Given the description of an element on the screen output the (x, y) to click on. 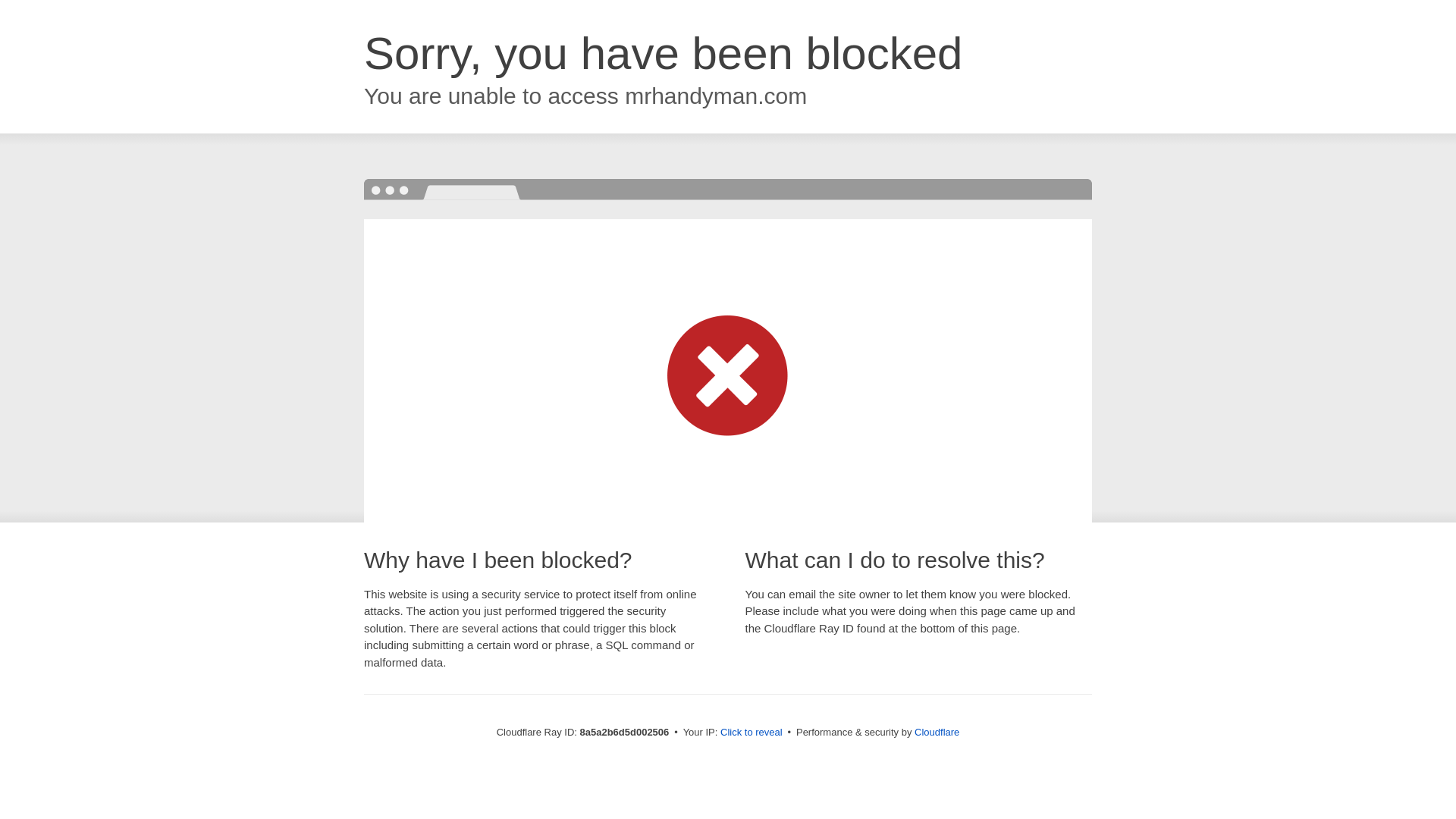
Click to reveal (751, 732)
Cloudflare (936, 731)
